Given the description of an element on the screen output the (x, y) to click on. 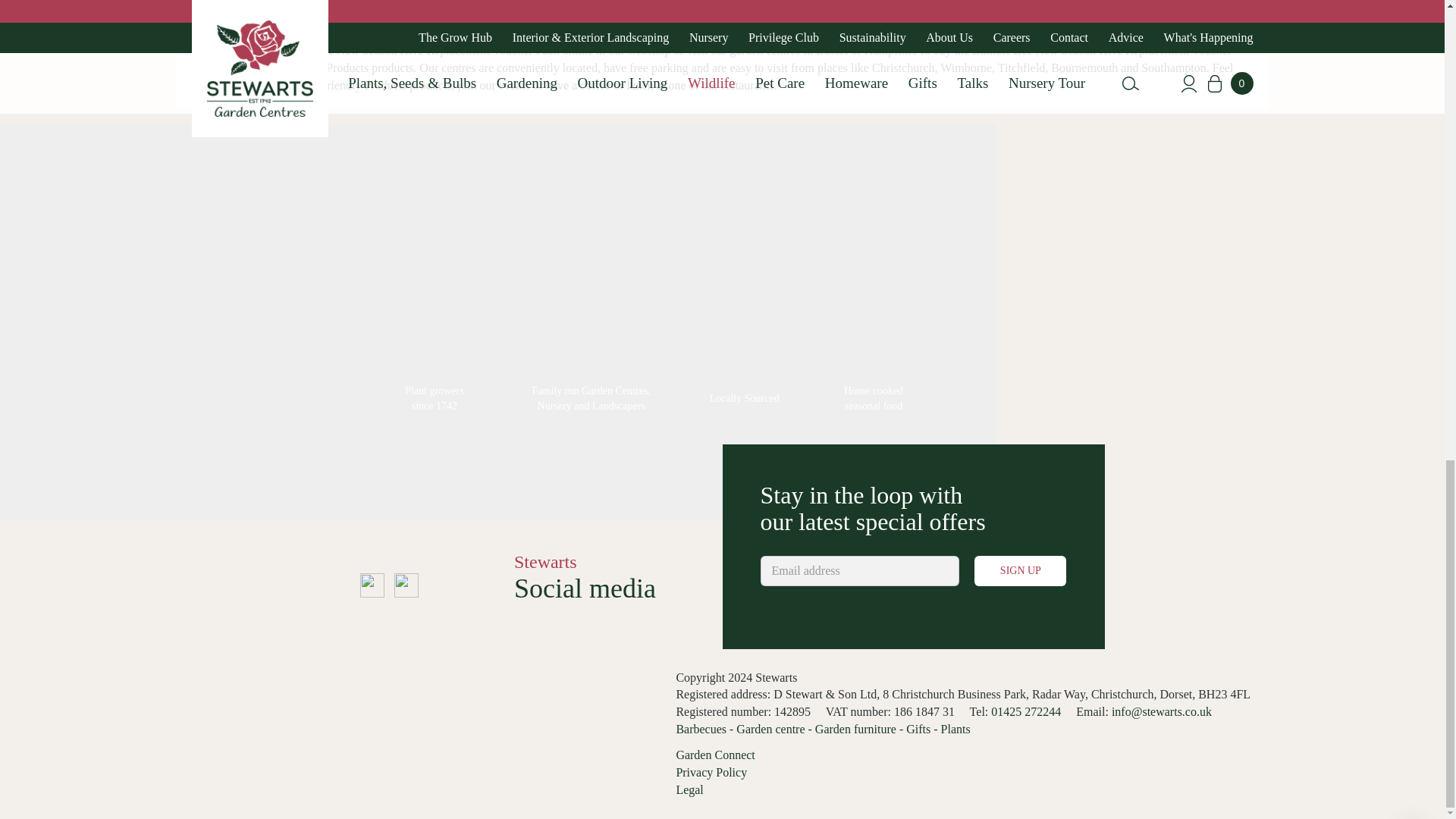
Sign up (1019, 571)
